Given the description of an element on the screen output the (x, y) to click on. 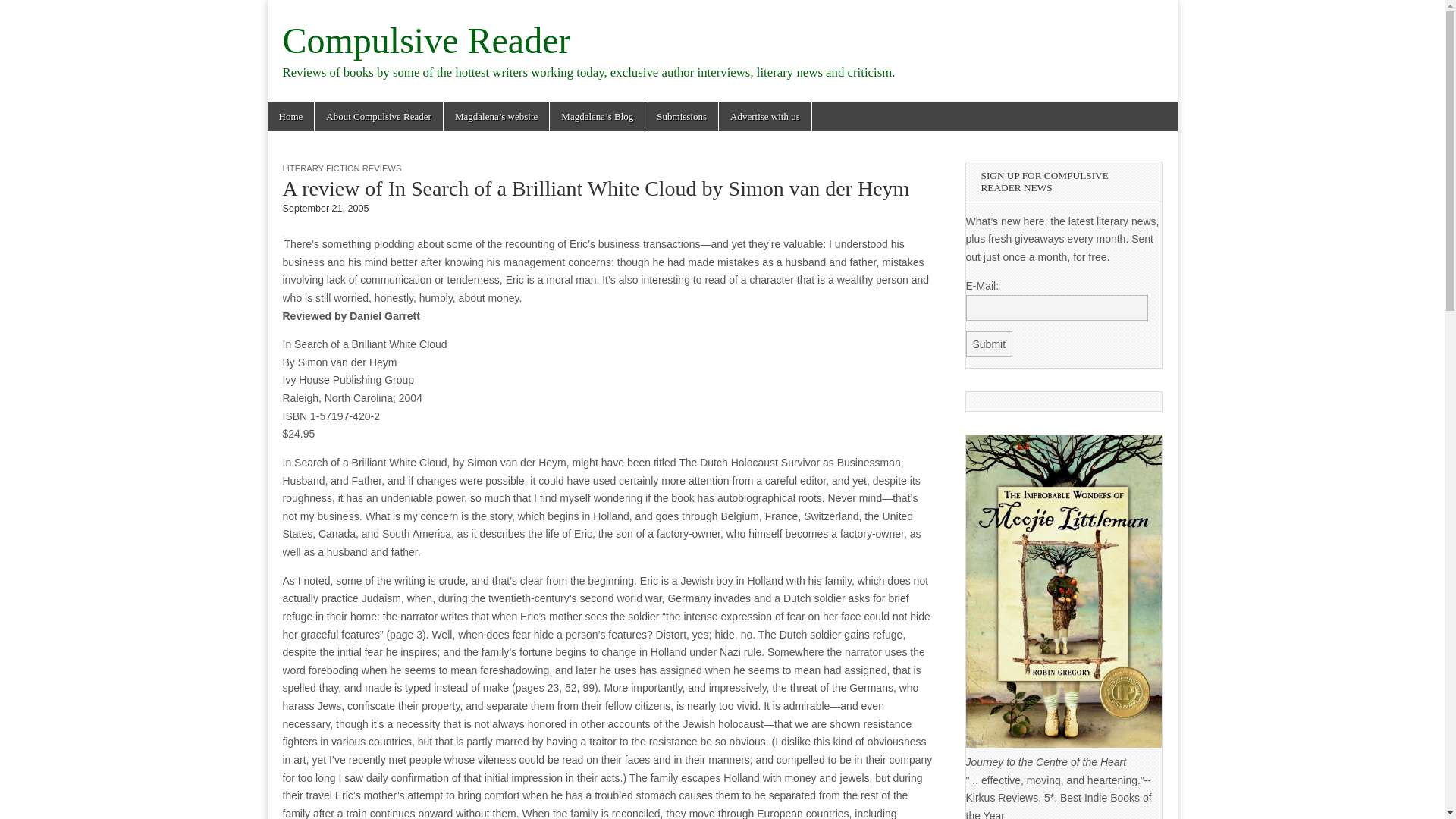
Compulsive Reader (426, 40)
Submissions (681, 116)
Submit (989, 344)
About Compulsive Reader (378, 116)
Advertise with us (764, 116)
Home (290, 116)
Search (23, 12)
Compulsive Reader (426, 40)
Submit (989, 344)
LITERARY FICTION REVIEWS (341, 167)
